Given the description of an element on the screen output the (x, y) to click on. 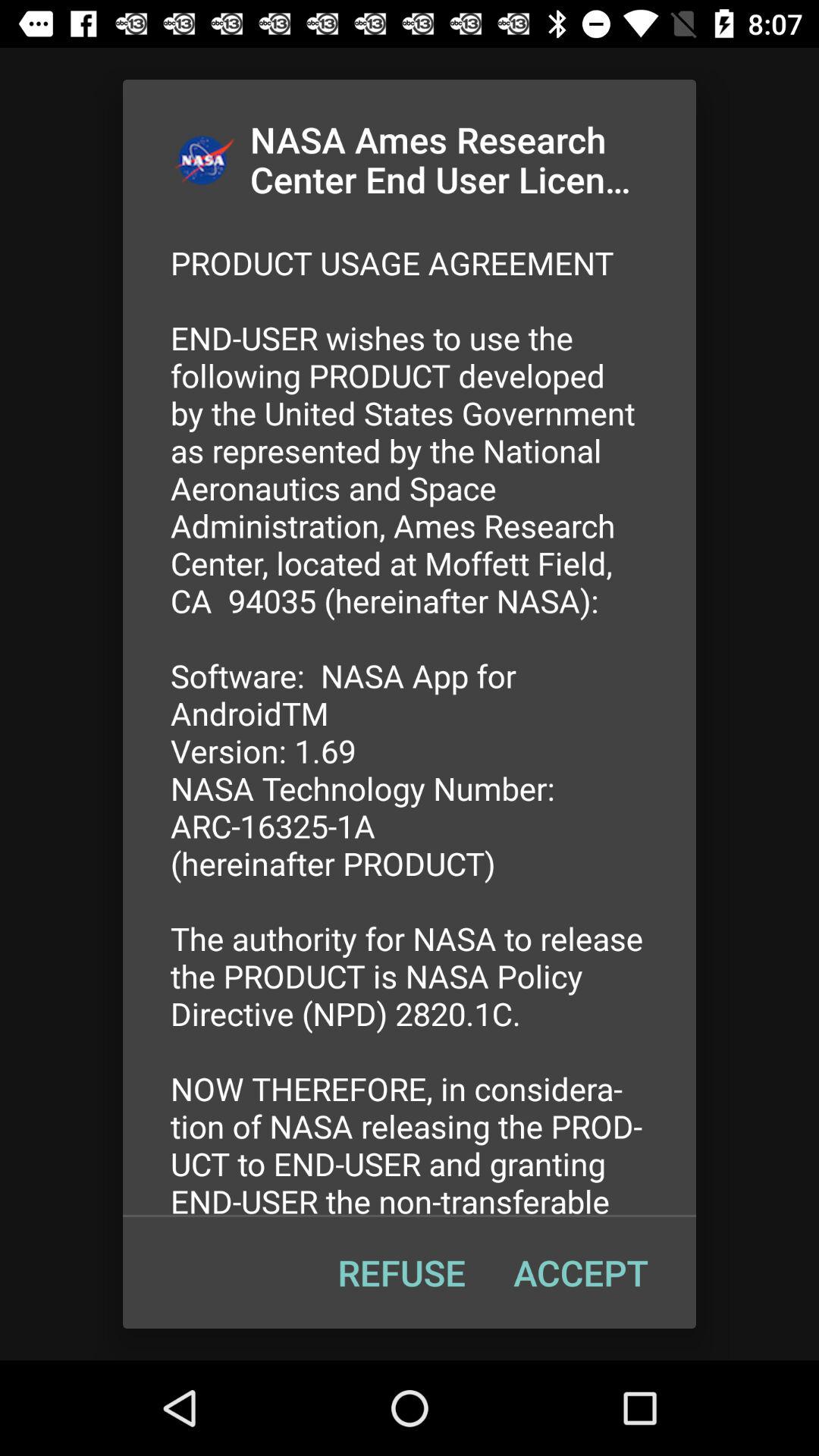
turn off item next to the refuse (580, 1272)
